Given the description of an element on the screen output the (x, y) to click on. 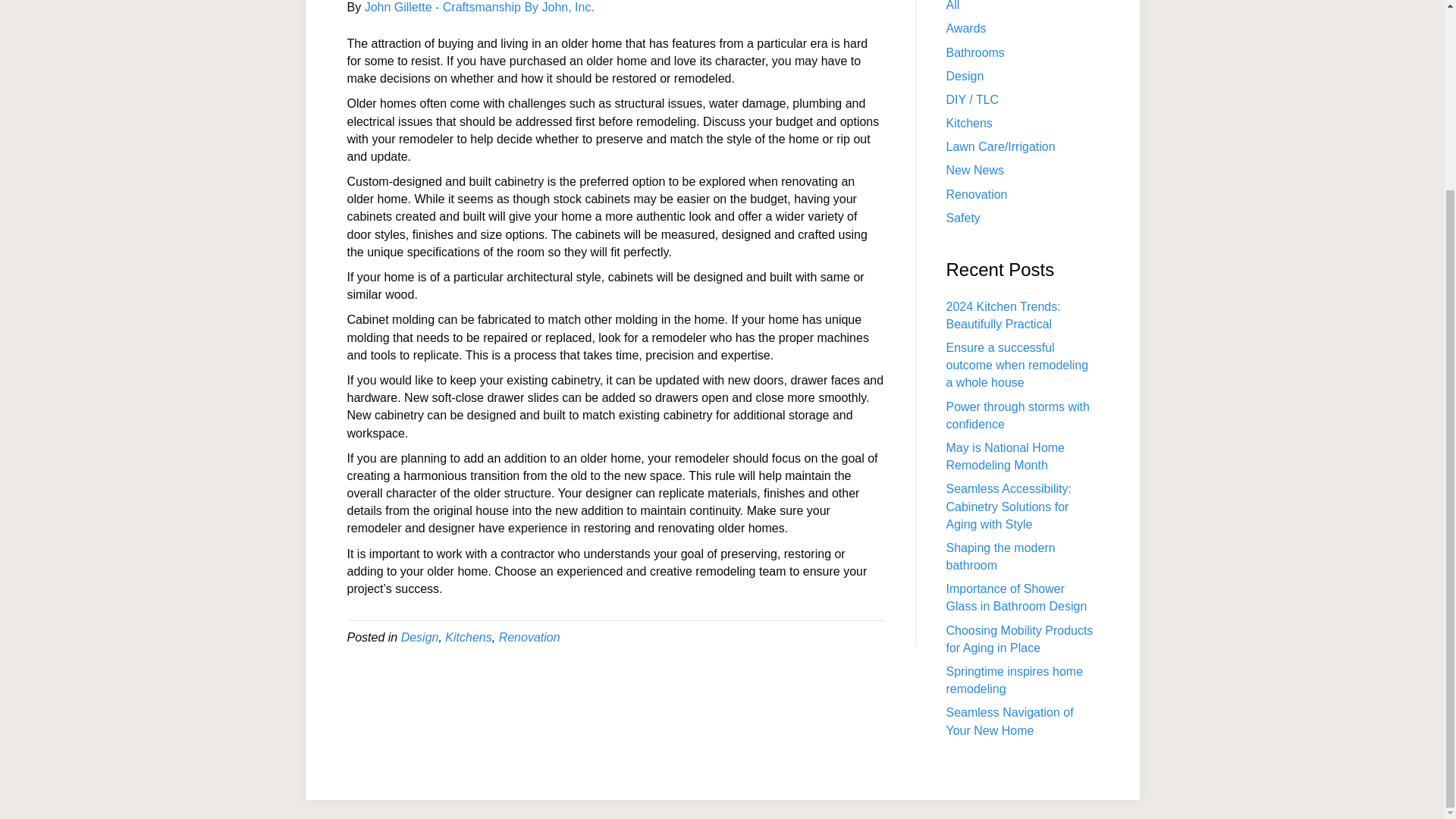
Bathrooms (975, 51)
Power through storms with confidence (1017, 415)
Design (965, 75)
All (952, 5)
Seamless Navigation of Your New Home (1010, 720)
May is National Home Remodeling Month (1005, 456)
Springtime inspires home remodeling (1014, 680)
Safety (962, 217)
Kitchens (969, 123)
Shaping the modern bathroom (1000, 556)
Design (420, 636)
Importance of Shower Glass in Bathroom Design (1016, 597)
2024 Kitchen Trends: Beautifully Practical (1003, 315)
Renovation (529, 636)
Renovation (976, 194)
